Given the description of an element on the screen output the (x, y) to click on. 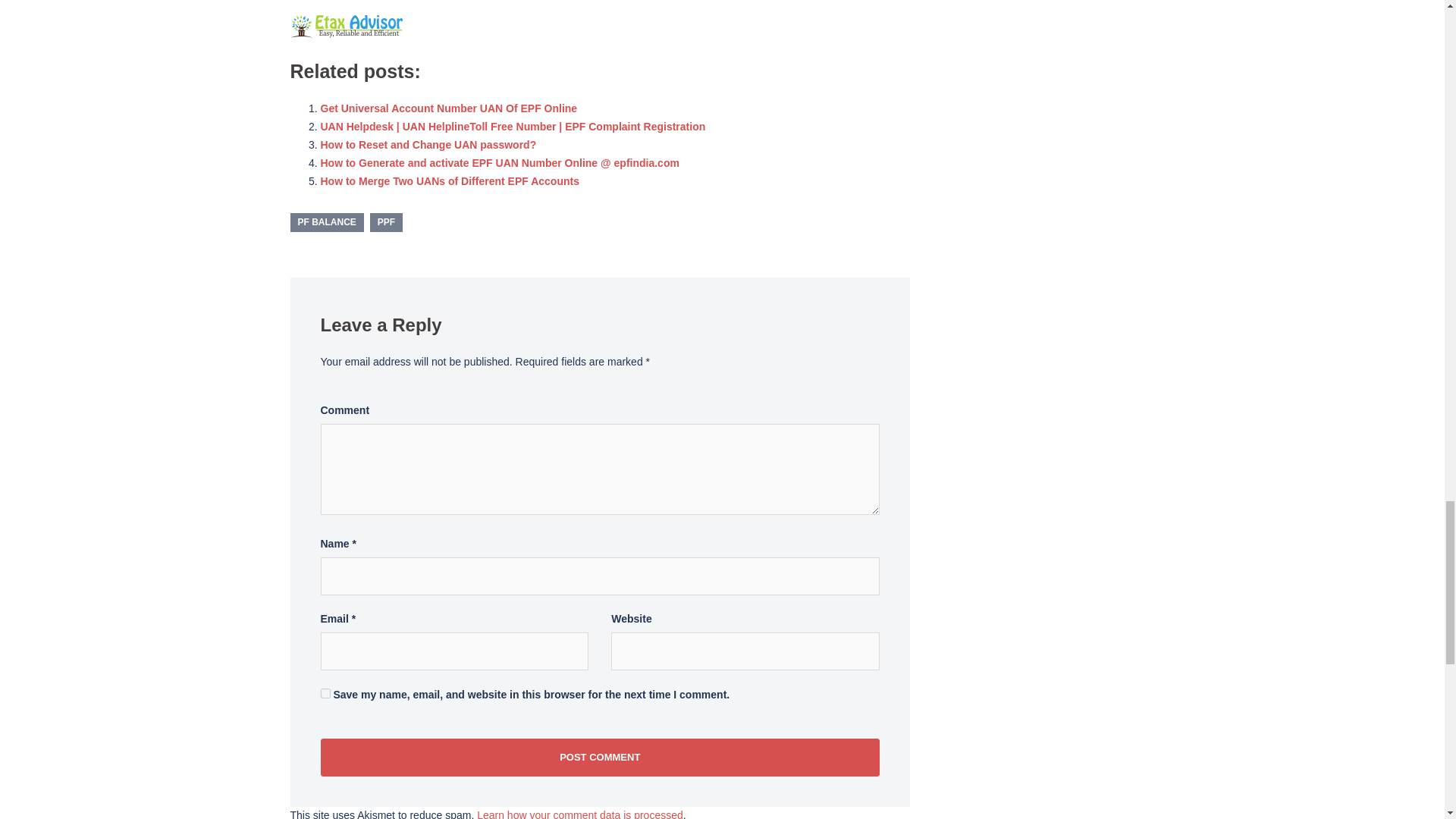
How to Merge Two UANs of Different EPF Accounts (449, 180)
How to Reset and Change UAN password? (427, 144)
PPF (386, 221)
How to Reset and Change UAN password? (427, 144)
Post Comment (599, 757)
Get Universal Account Number UAN Of EPF Online (448, 108)
yes (325, 693)
Get Universal Account Number UAN Of EPF Online (448, 108)
Learn how your comment data is processed (579, 814)
Advertisement (599, 25)
PF BALANCE (325, 221)
How to Merge Two UANs of Different EPF Accounts (449, 180)
Post Comment (599, 757)
